Given the description of an element on the screen output the (x, y) to click on. 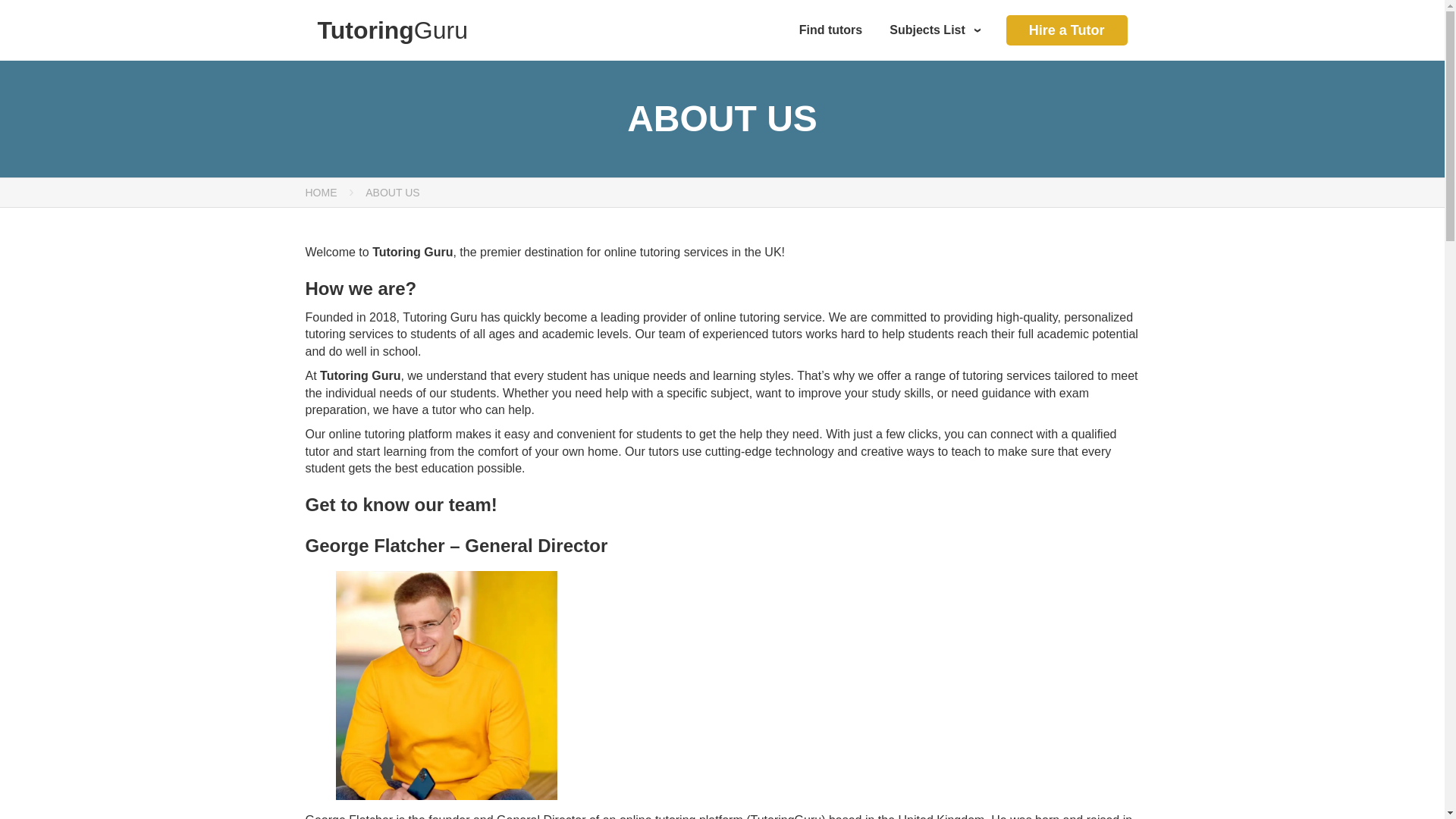
HOME (320, 192)
Subjects List (938, 30)
Hire a Tutor (1066, 30)
Find tutors (831, 30)
TutoringGuru (392, 30)
